Given the description of an element on the screen output the (x, y) to click on. 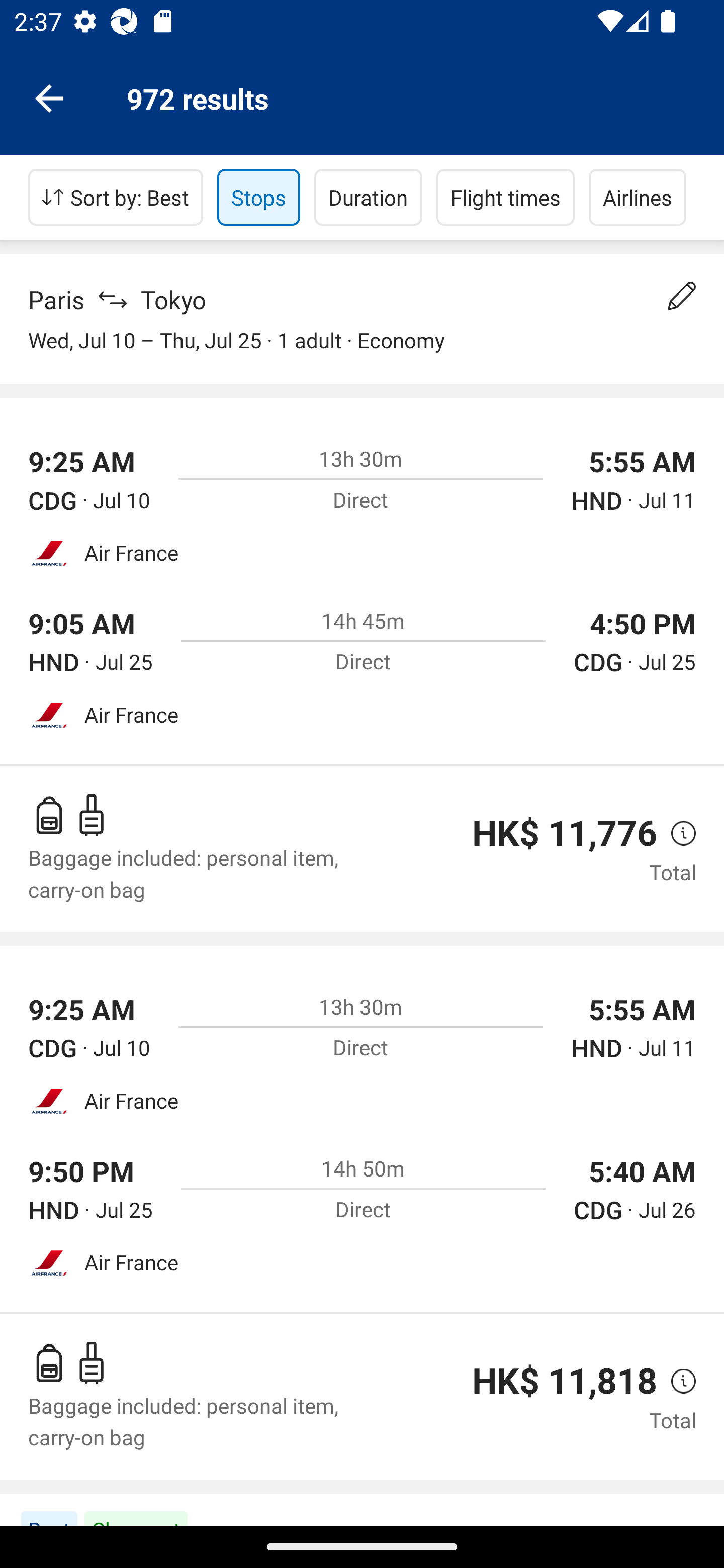
Navigate up (49, 97)
Sort by: Best (115, 197)
Stops (258, 197)
Duration (368, 197)
Flight times (505, 197)
Airlines (637, 197)
Change your search details (681, 296)
HK$ 11,776 (564, 833)
view price details, opens a pop-up (676, 833)
HK$ 11,818 (564, 1380)
view price details, opens a pop-up (676, 1380)
